Given the description of an element on the screen output the (x, y) to click on. 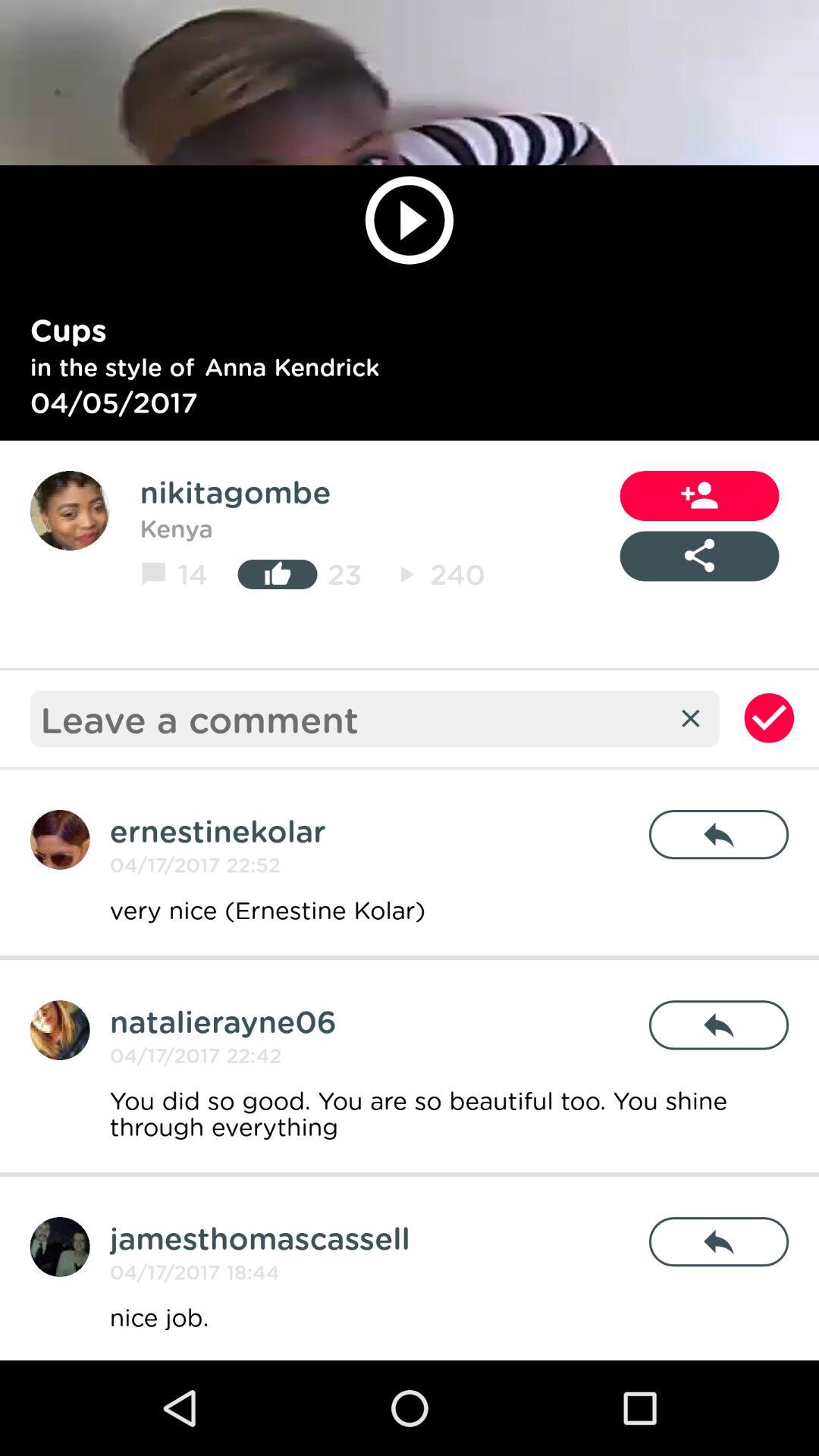
flip until natalierayne06 (222, 1020)
